Given the description of an element on the screen output the (x, y) to click on. 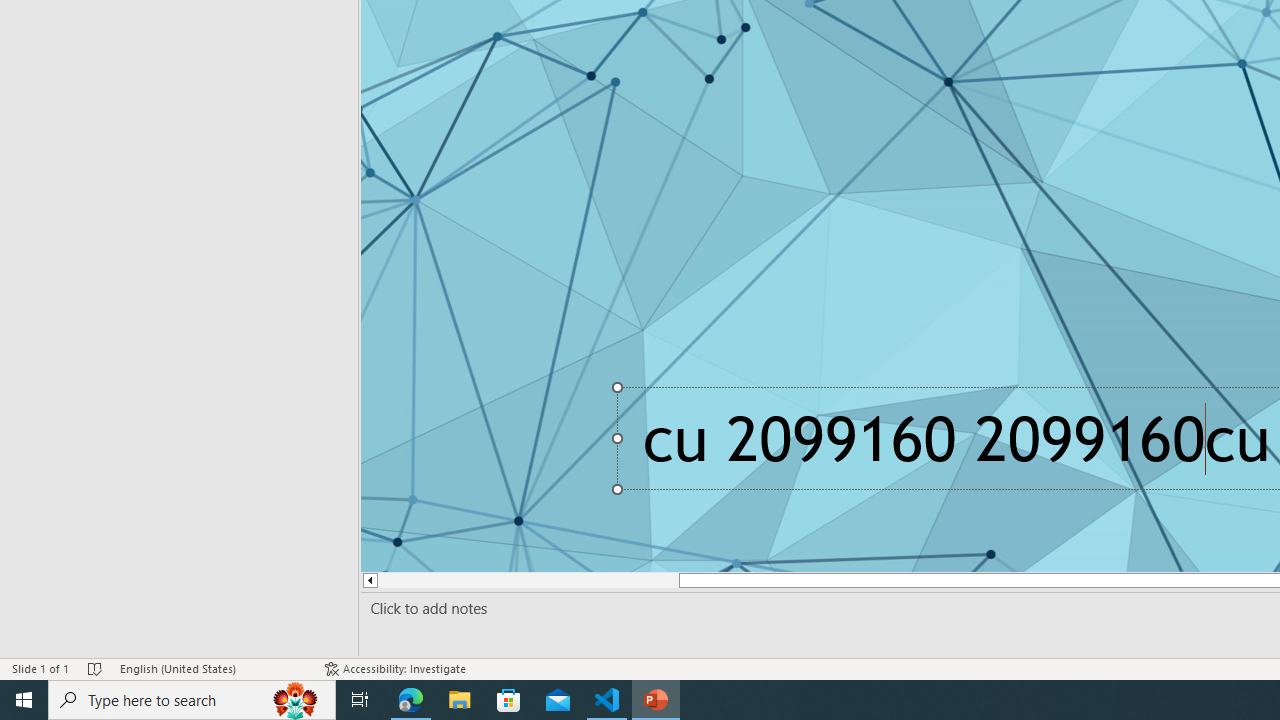
Page up (518, 579)
